Given the description of an element on the screen output the (x, y) to click on. 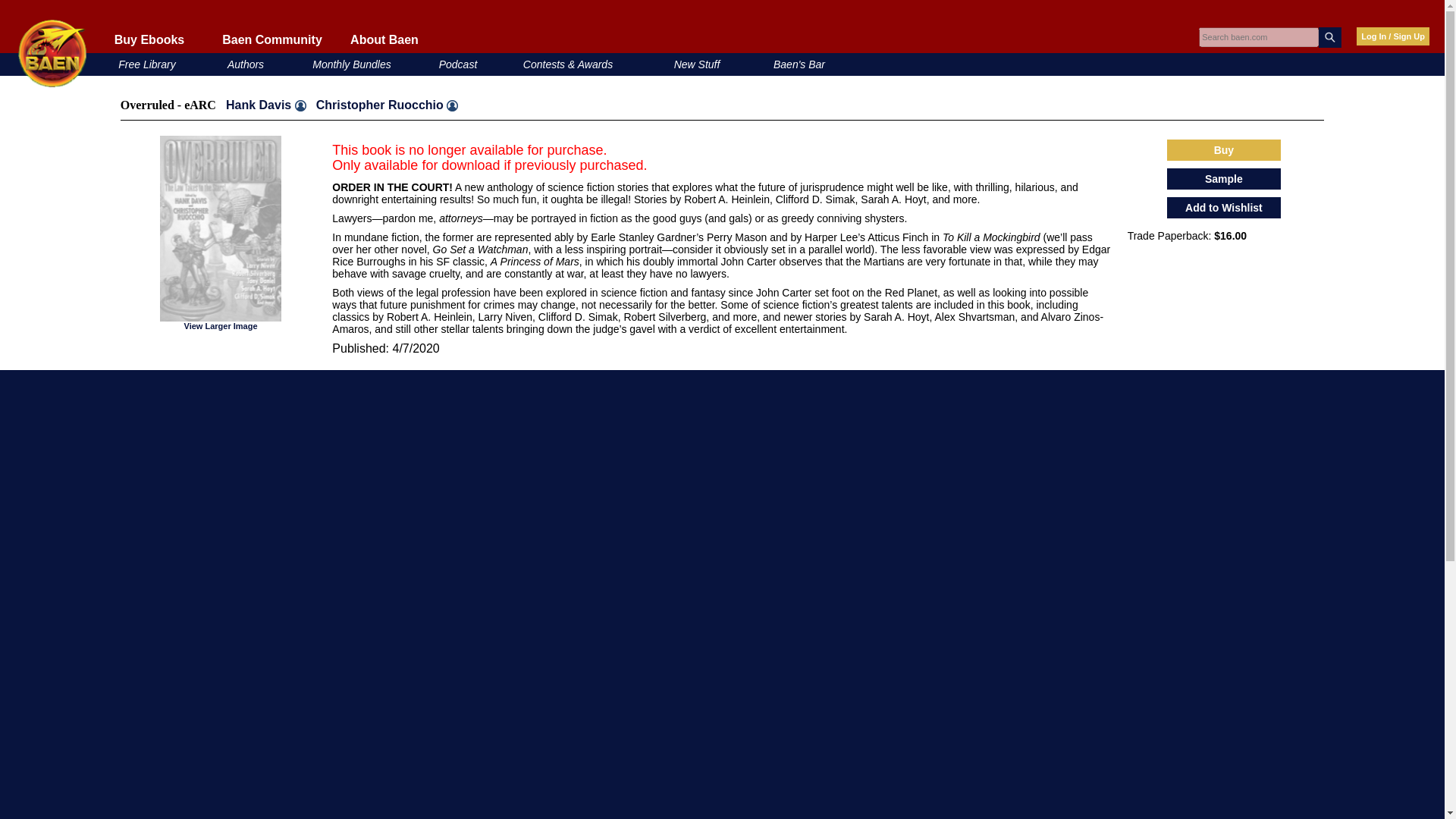
Monthly Bundles (352, 64)
Free Library (145, 64)
New Stuff (697, 64)
Authors (245, 64)
Baen's Bar (799, 64)
Buy Ebooks (149, 40)
Podcast (458, 64)
Baen Community (272, 40)
About Baen (384, 40)
